Given the description of an element on the screen output the (x, y) to click on. 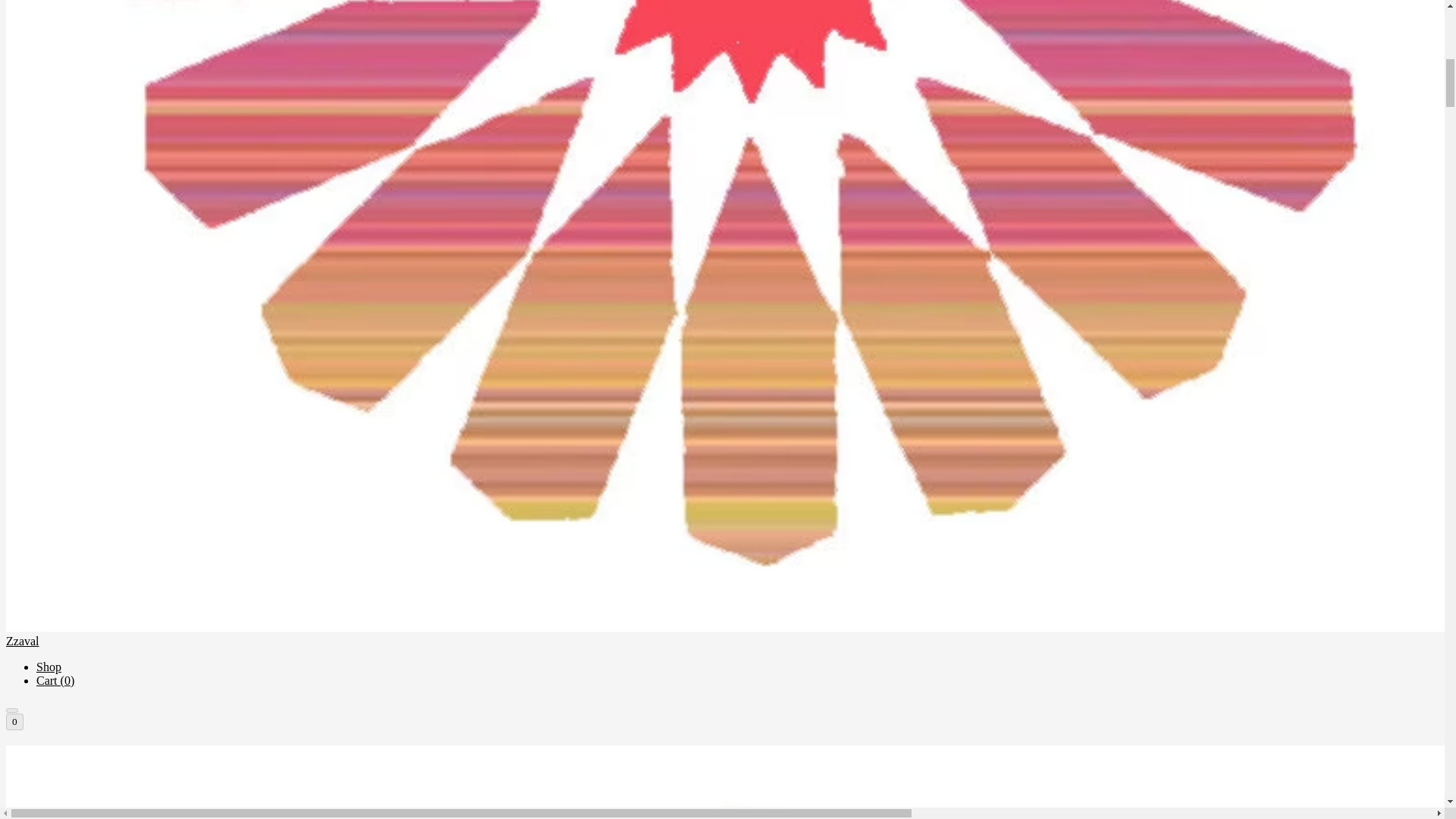
Zzaval (721, 782)
0 (14, 721)
Shop (48, 666)
